Given the description of an element on the screen output the (x, y) to click on. 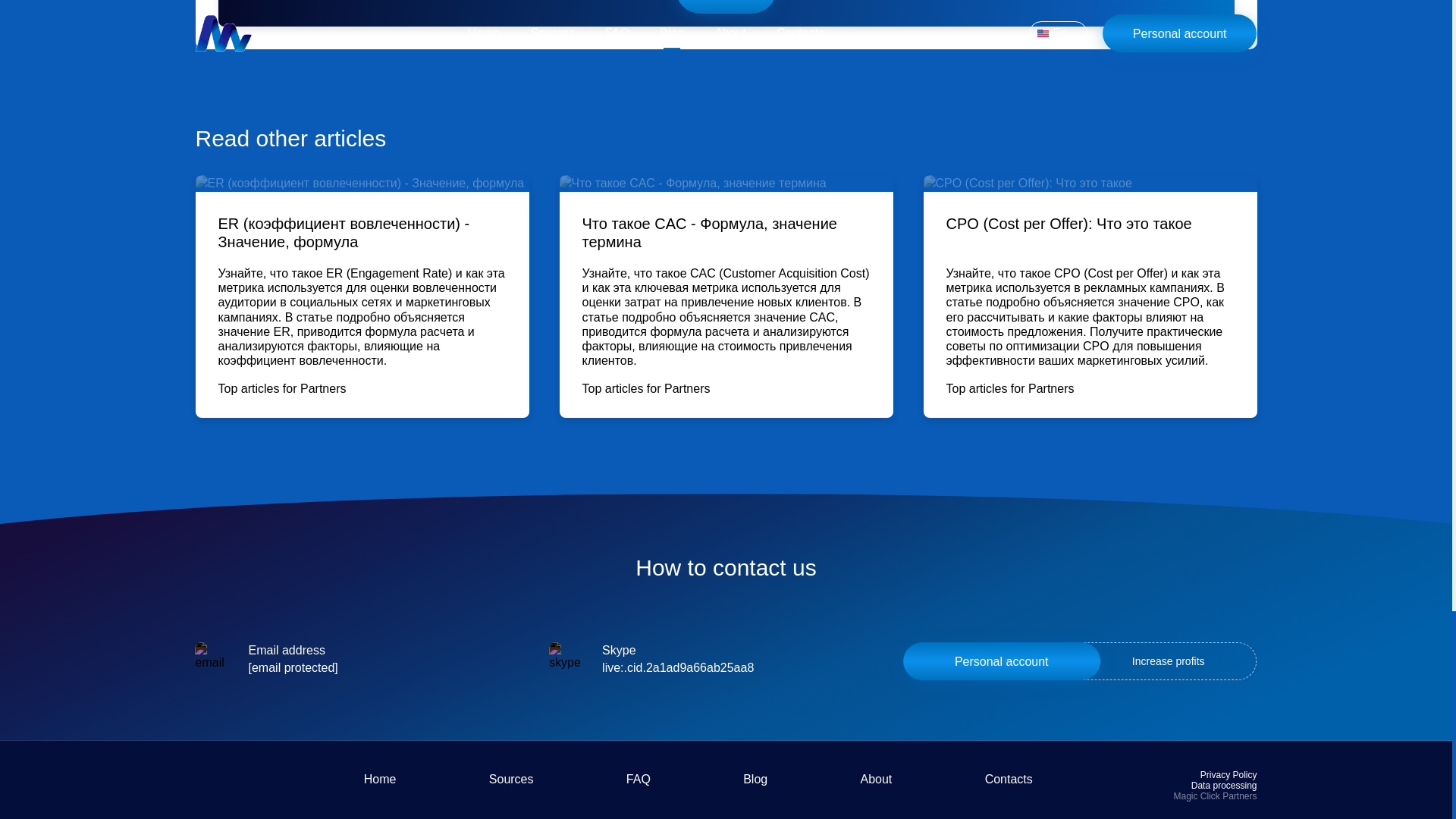
Magic Click Partners (1214, 796)
live:.cid.2a1ad9a66ab25aa8 (678, 668)
Personal account (1001, 661)
Skype (678, 668)
Privacy Policy (1228, 774)
About (875, 779)
Sources (511, 779)
Home (380, 779)
Join (726, 12)
Contacts (1008, 779)
Data processing (1224, 785)
